Given the description of an element on the screen output the (x, y) to click on. 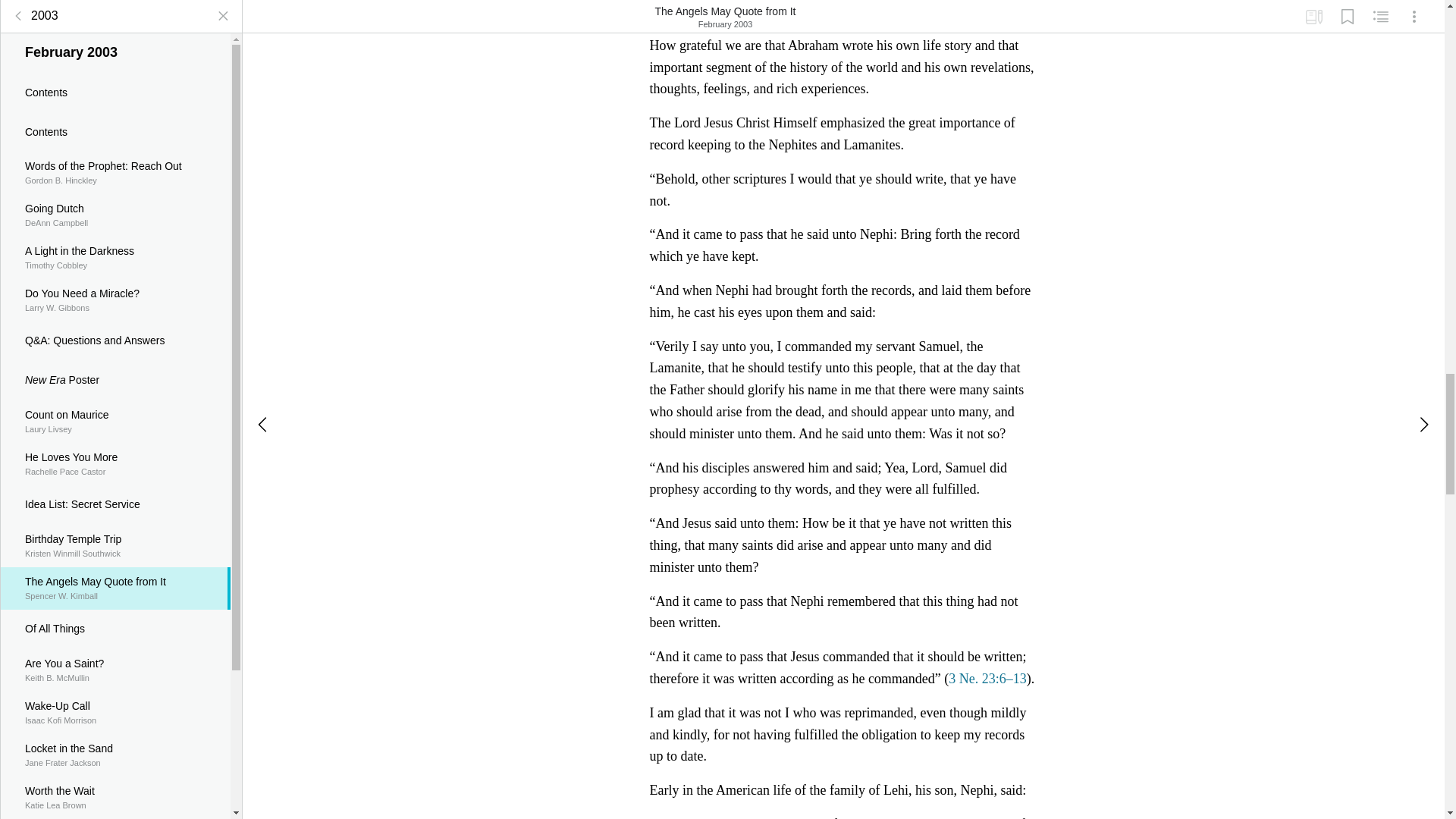
Photo of the Month (115, 15)
